Given the description of an element on the screen output the (x, y) to click on. 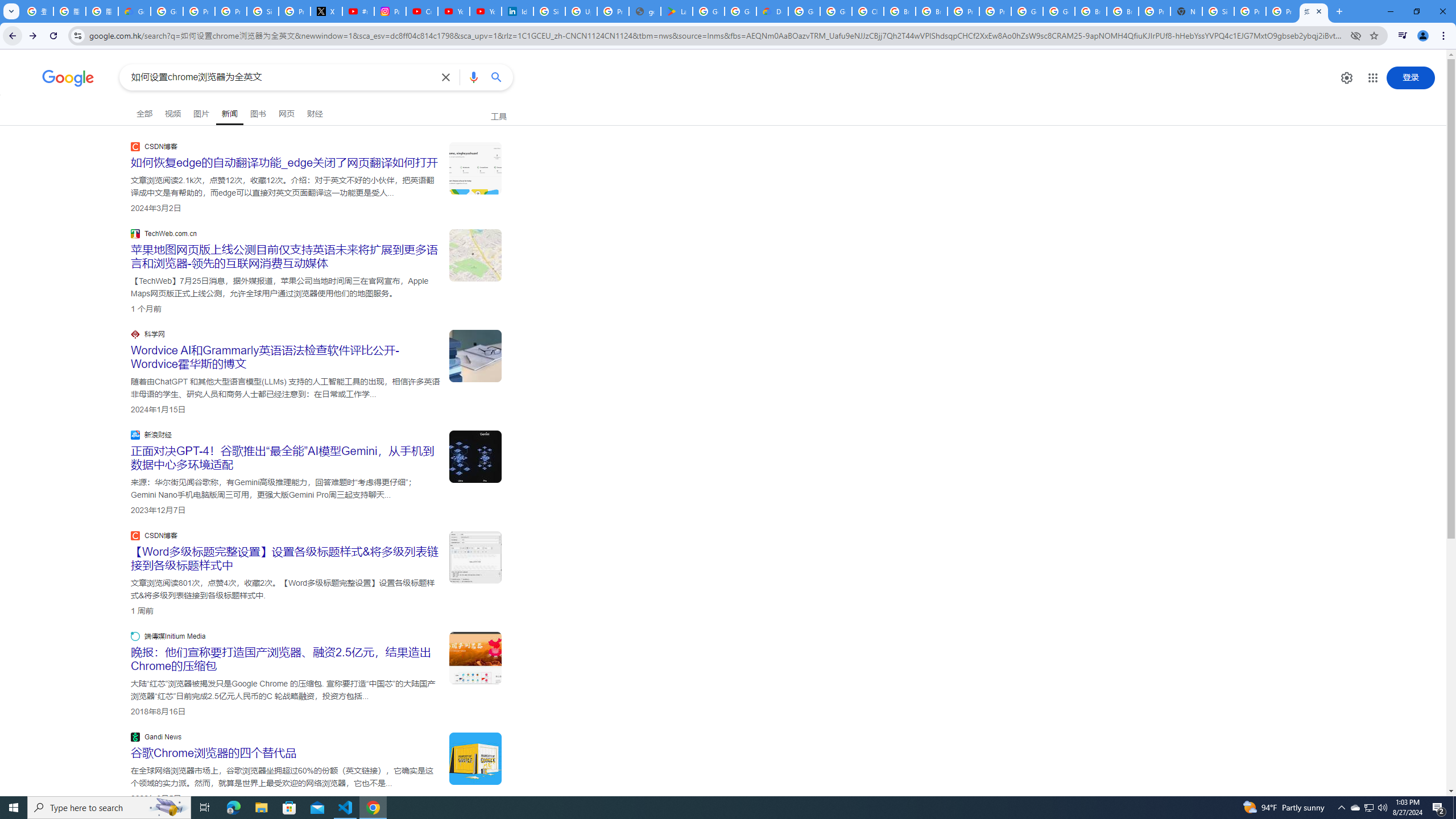
X (326, 11)
